Given the description of an element on the screen output the (x, y) to click on. 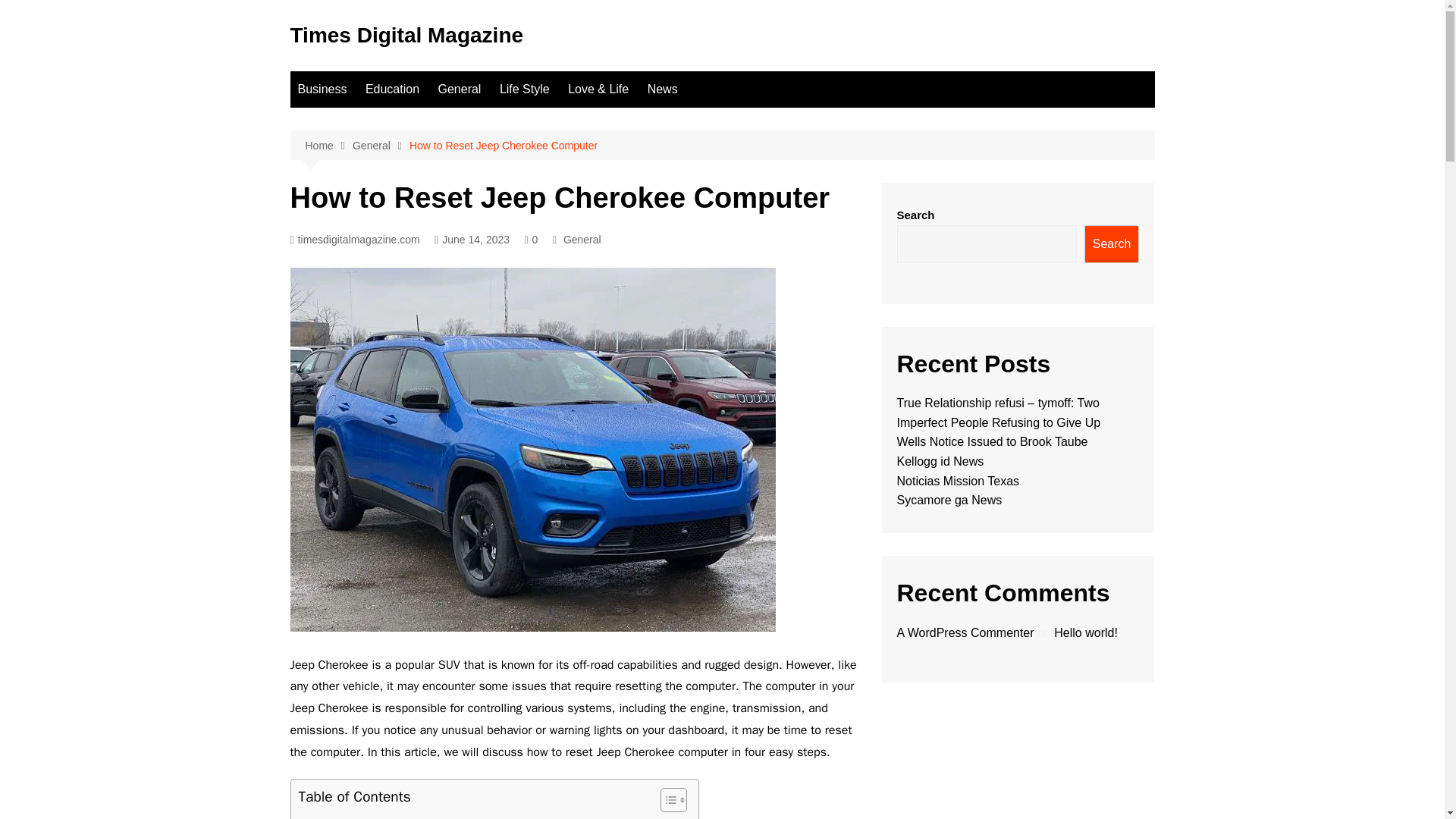
News (662, 89)
Business (321, 89)
General (582, 239)
General (380, 145)
June 14, 2023 (471, 239)
Life Style (524, 89)
timesdigitalmagazine.com (354, 239)
0 (530, 239)
Times Digital Magazine (405, 34)
How to Reset Jeep Cherokee Computer (502, 145)
General (459, 89)
Home (328, 145)
Education (392, 89)
